Given the description of an element on the screen output the (x, y) to click on. 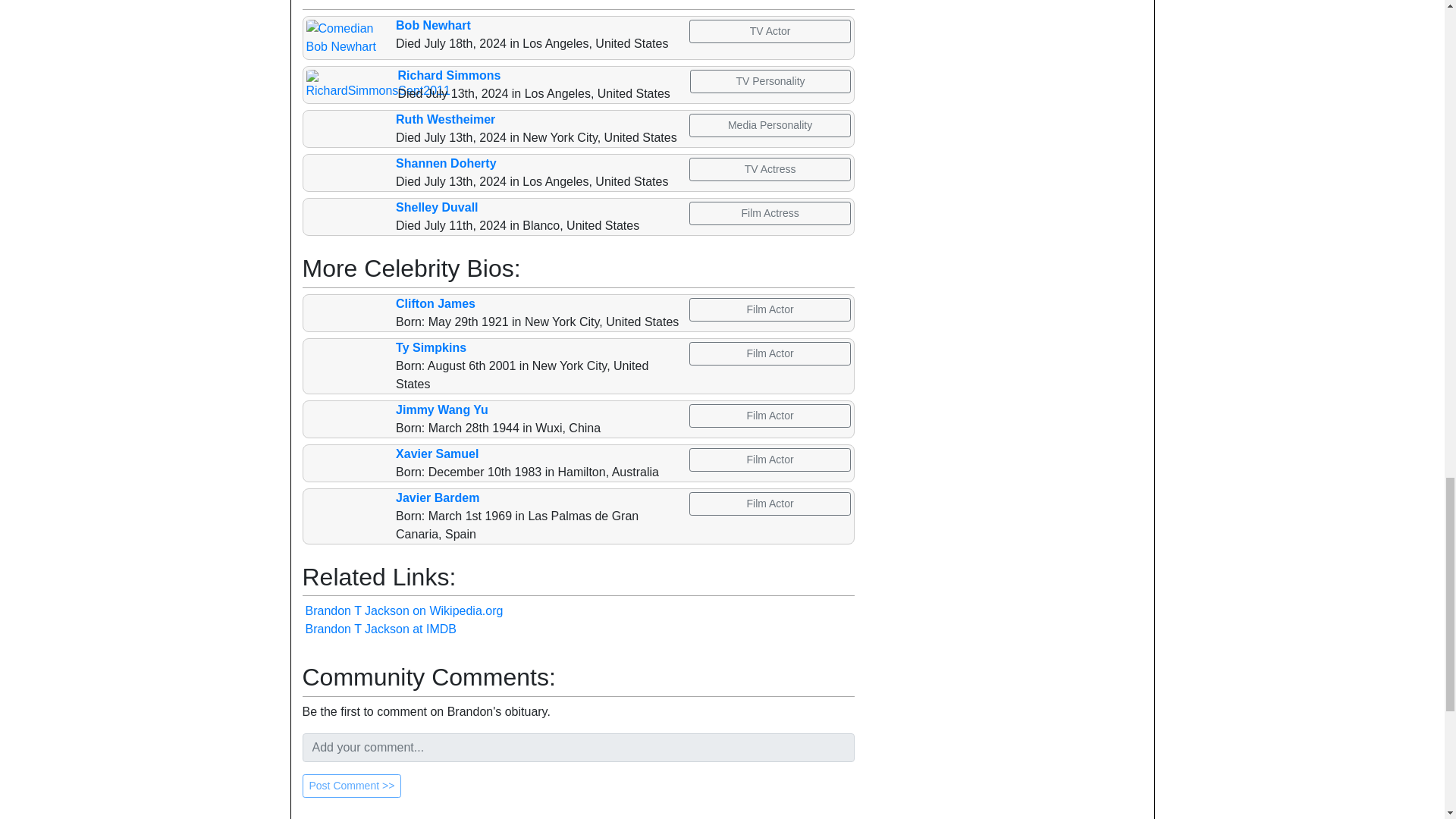
Ruth Westheimer (445, 119)
TV Personality (770, 81)
TV Actor (769, 31)
Bob Newhart (433, 24)
Richard Simmons (448, 74)
Media Personality (769, 125)
